Given the description of an element on the screen output the (x, y) to click on. 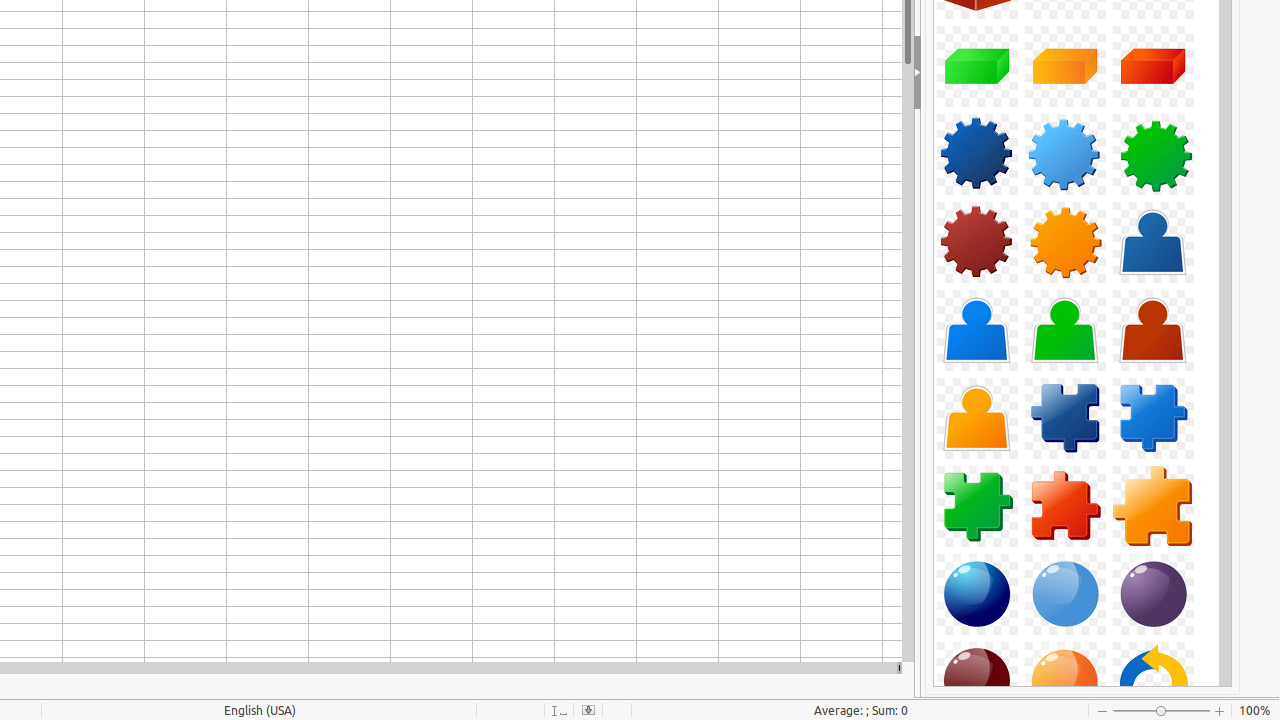
Component-Gear01-DarkBlue Element type: list-item (977, 154)
Component-Cuboid03-Green Element type: list-item (977, 65)
Component-Person05-Orange Element type: list-item (977, 417)
Component-Sphere01-DarkBlue Element type: list-item (977, 594)
Component-Sphere03-Green Element type: list-item (1153, 594)
